Given the description of an element on the screen output the (x, y) to click on. 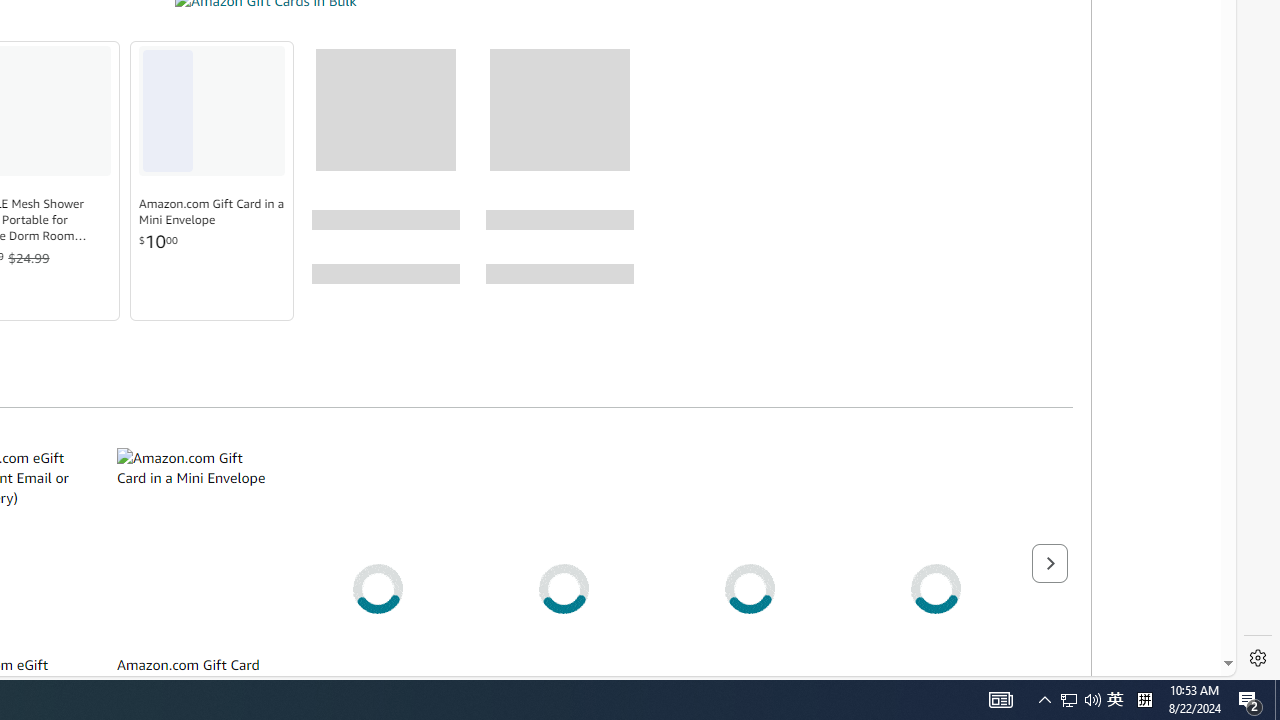
Next page (1049, 562)
Amazon.com Gift Card in a Mini Envelope (191, 546)
Amazon.com Gift Card in a Mini Envelope (212, 211)
